Given the description of an element on the screen output the (x, y) to click on. 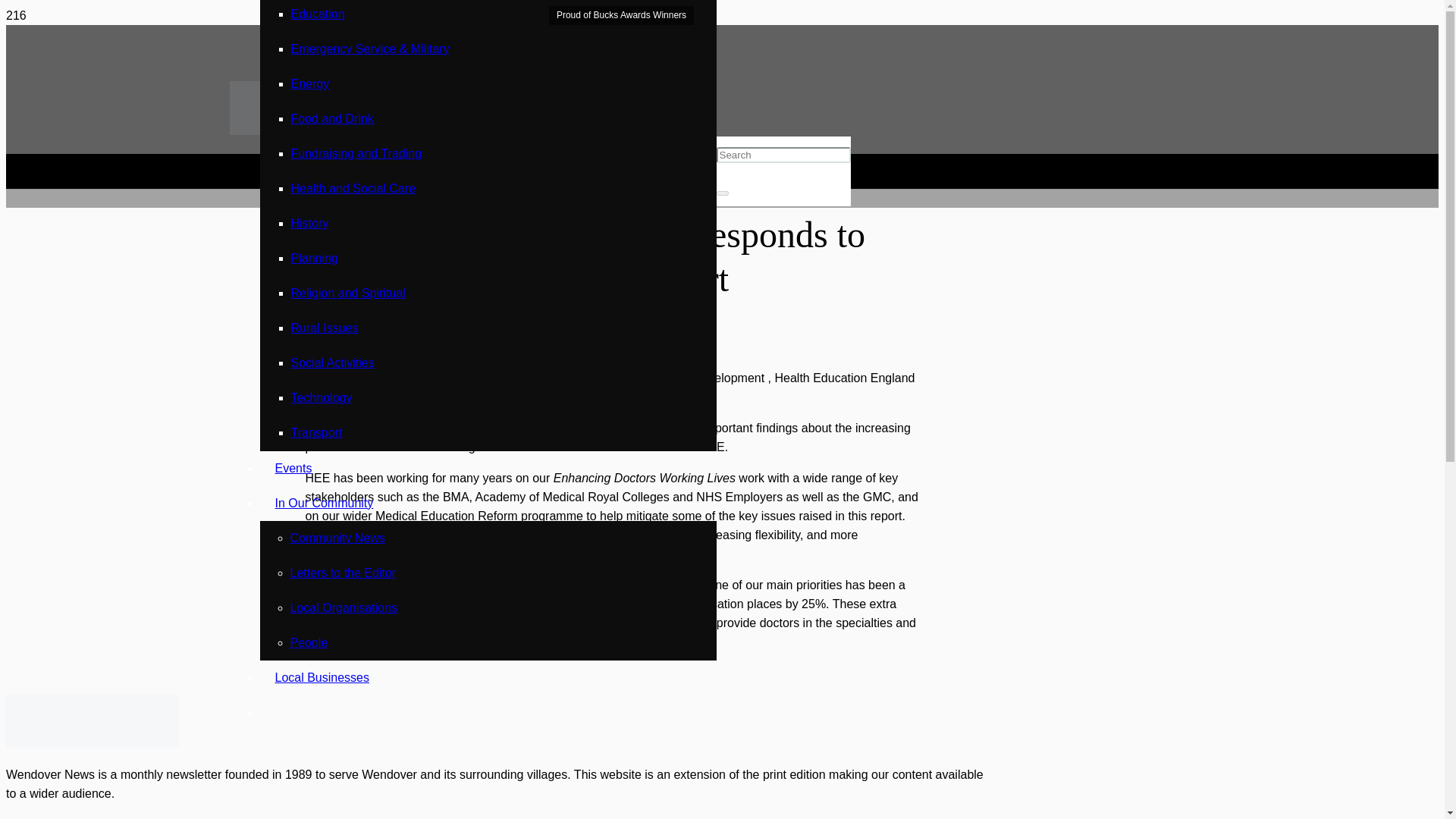
Social Activities (332, 362)
Religion and Spiritual (348, 292)
Food and Drink (332, 118)
Rural Issues (324, 327)
Local Businesses (321, 676)
Health and Social Care (429, 346)
Technology (321, 397)
Education (318, 13)
Health and Social Care (353, 187)
Events (292, 468)
Transport (316, 431)
Community News (336, 537)
Letters to the Editor (342, 572)
Planning (314, 257)
Local Organisations (342, 607)
